Given the description of an element on the screen output the (x, y) to click on. 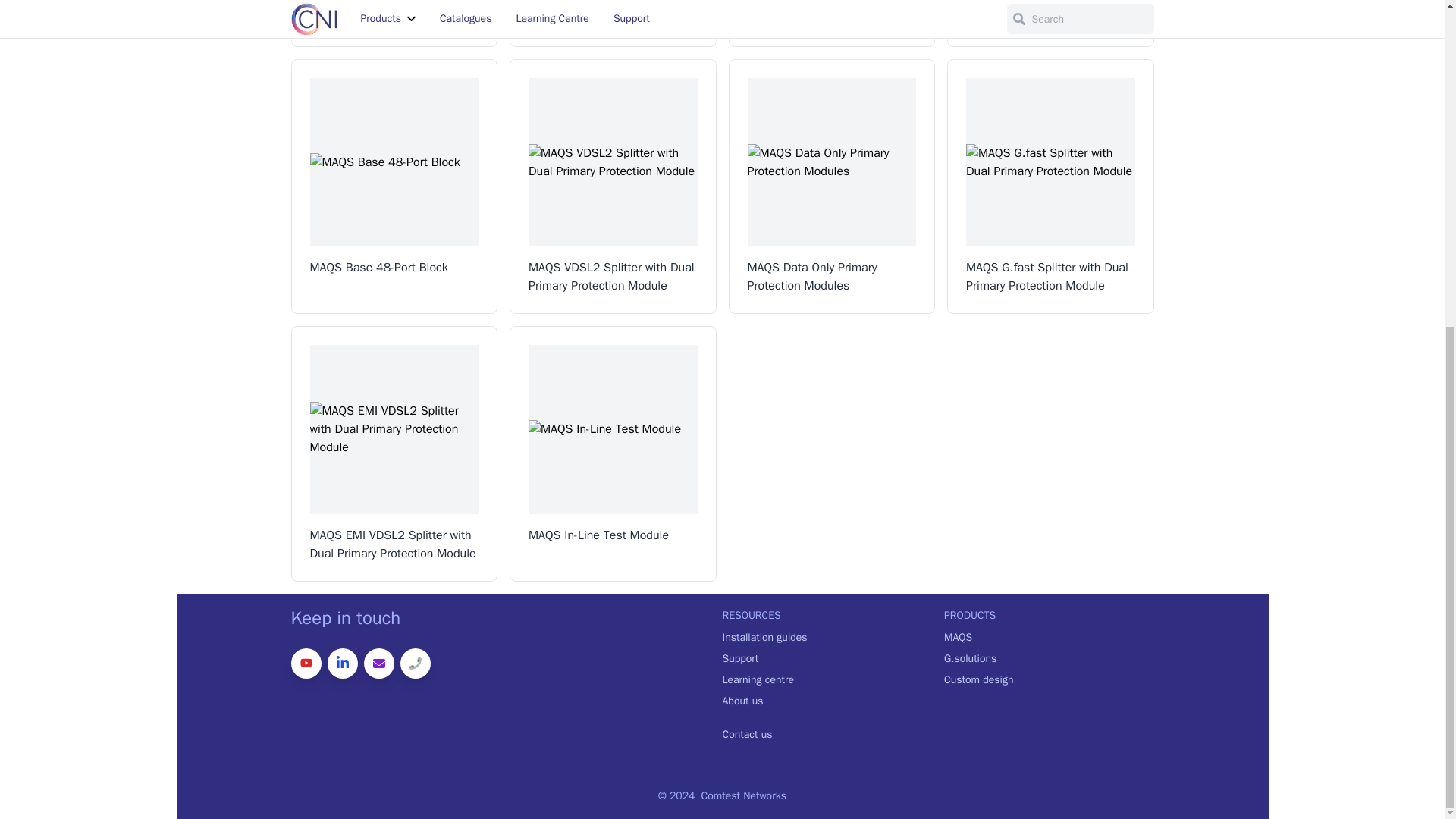
Support (826, 661)
Installation guides (826, 640)
MAQS Catalog Parts List (394, 23)
YouTube (306, 663)
Phone (415, 663)
LinkedIn (342, 663)
Multi Application Quick Access Solution (612, 23)
MAQS 96-Port Panel with Bracket (1050, 23)
MAQS Buddy Box (831, 23)
Email (379, 663)
